Given the description of an element on the screen output the (x, y) to click on. 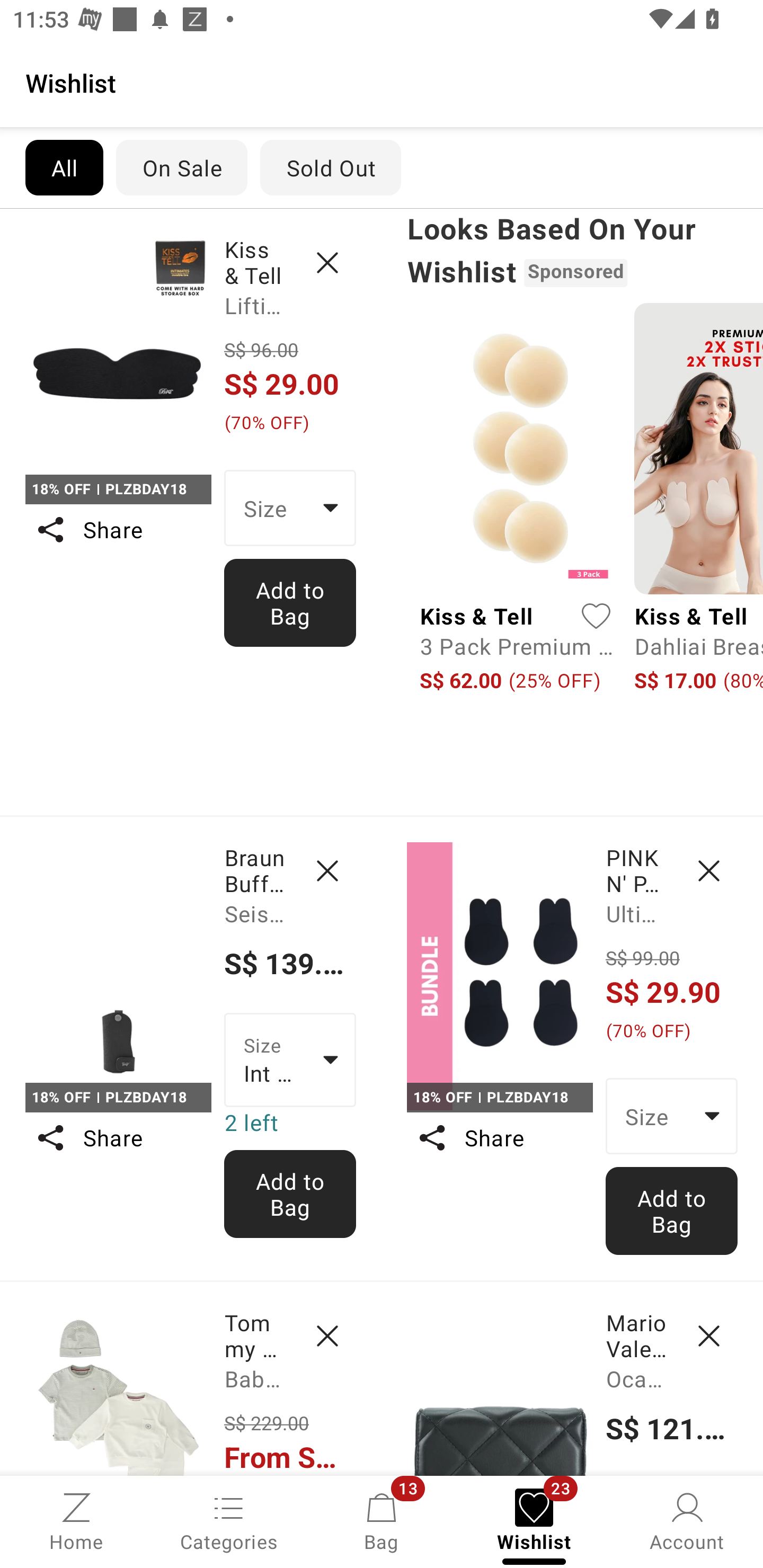
Wishlist (381, 82)
All (64, 167)
On Sale (181, 167)
Sold Out (330, 167)
Size (290, 507)
Share (118, 529)
Add to Bag (290, 602)
Size Int One Size (290, 1059)
Size (671, 1116)
Share (118, 1137)
Share (499, 1137)
Add to Bag (290, 1193)
Add to Bag (671, 1210)
Home (76, 1519)
Categories (228, 1519)
Bag, 13 new notifications Bag (381, 1519)
Account (686, 1519)
